Given the description of an element on the screen output the (x, y) to click on. 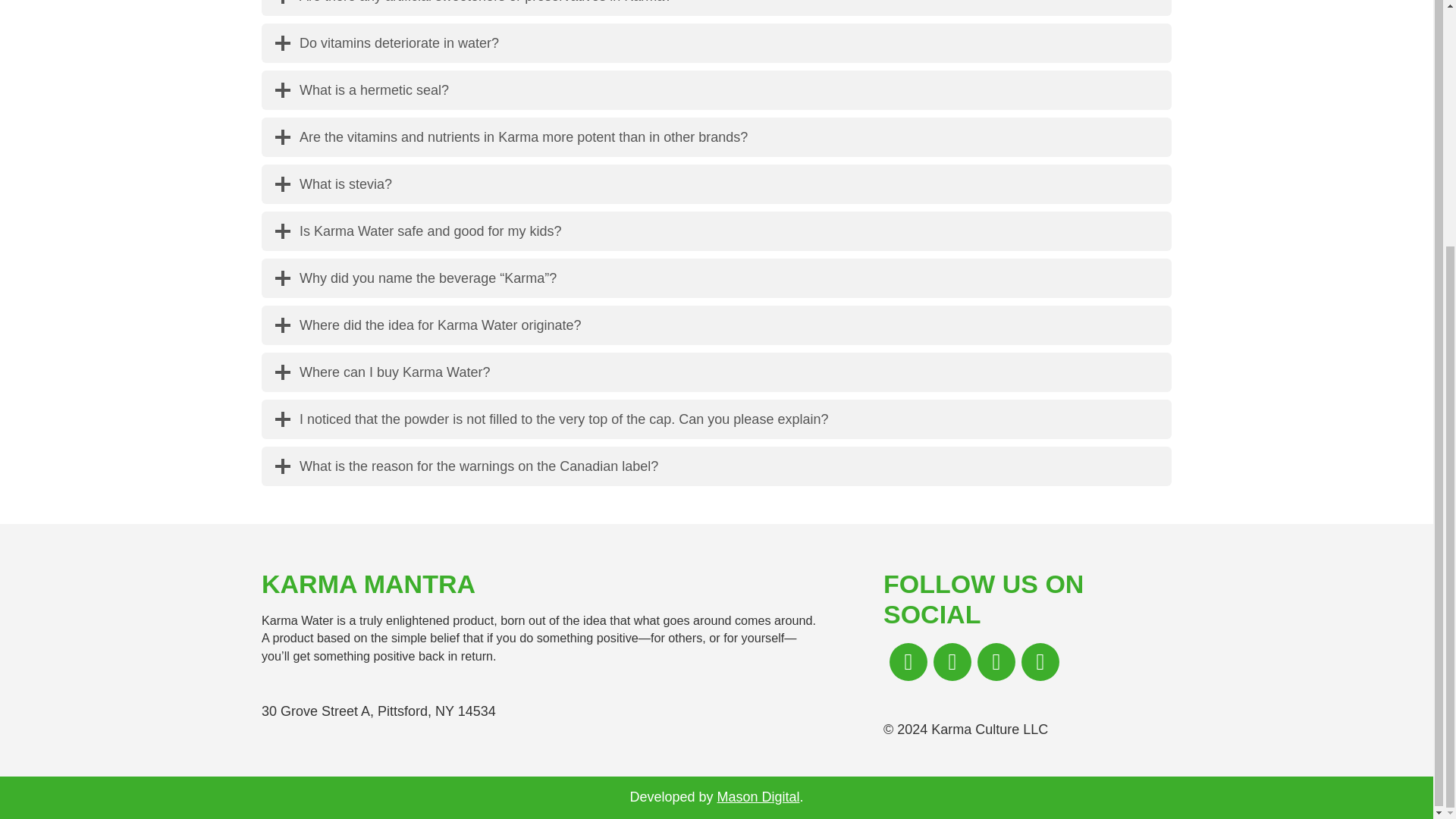
Connect with us on Facebook (908, 661)
Where can I buy Karma Water? (717, 372)
Do vitamins deteriorate in water? (717, 43)
Connect with us on Tiktok (1040, 661)
What is stevia? (717, 183)
What is a hermetic seal? (717, 89)
Connect with us on Instagram (952, 661)
Is Karma Water safe and good for my kids? (717, 230)
Where did the idea for Karma Water originate? (717, 324)
What is the reason for the warnings on the Canadian label? (717, 466)
Connect with us on Twitter (995, 661)
Mason Digital (758, 796)
